Given the description of an element on the screen output the (x, y) to click on. 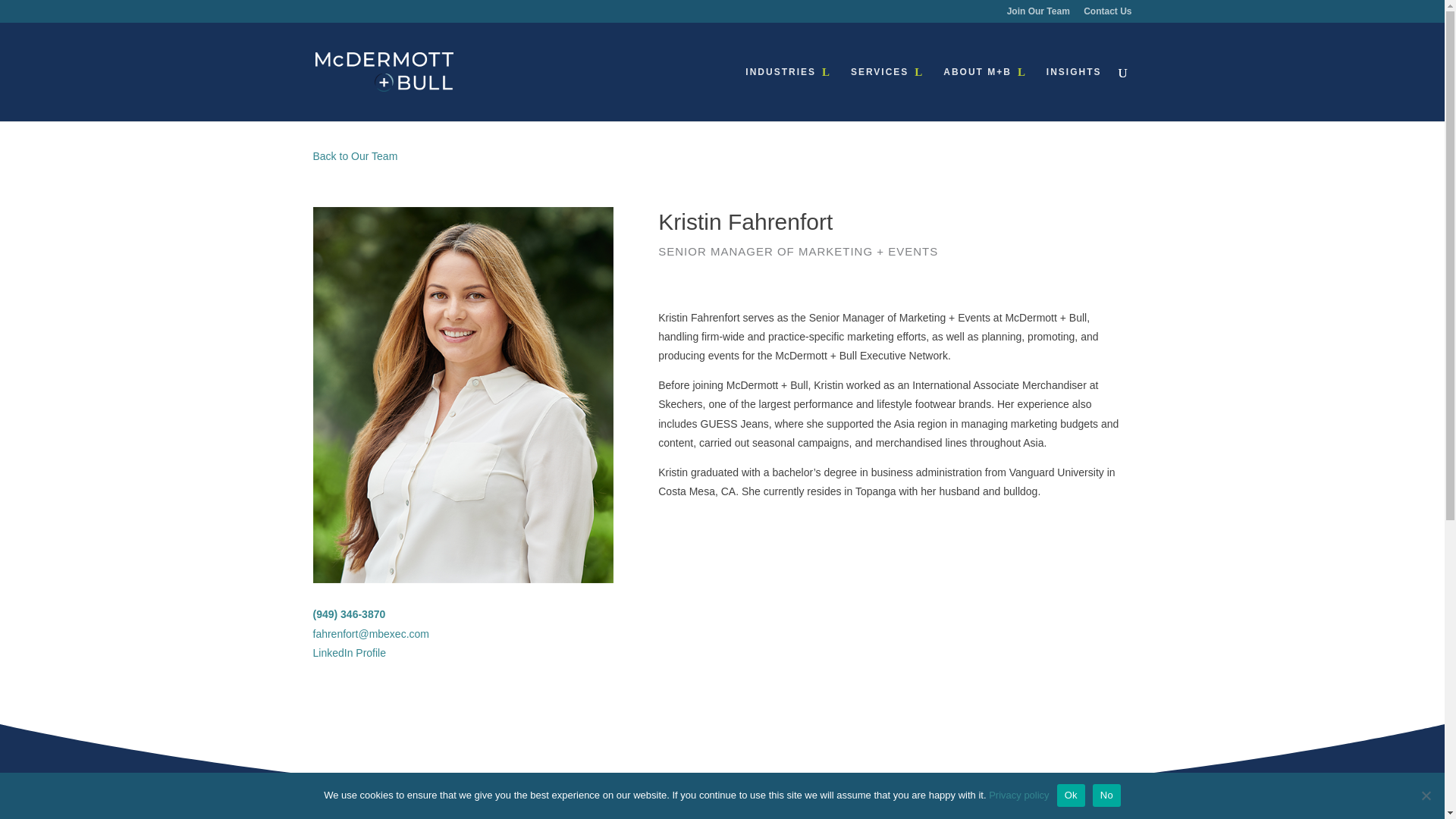
INSIGHTS (1074, 93)
SERVICES (886, 93)
Join Our Team (1038, 14)
Contact Us (1107, 14)
INDUSTRIES (788, 93)
No (1425, 795)
